Given the description of an element on the screen output the (x, y) to click on. 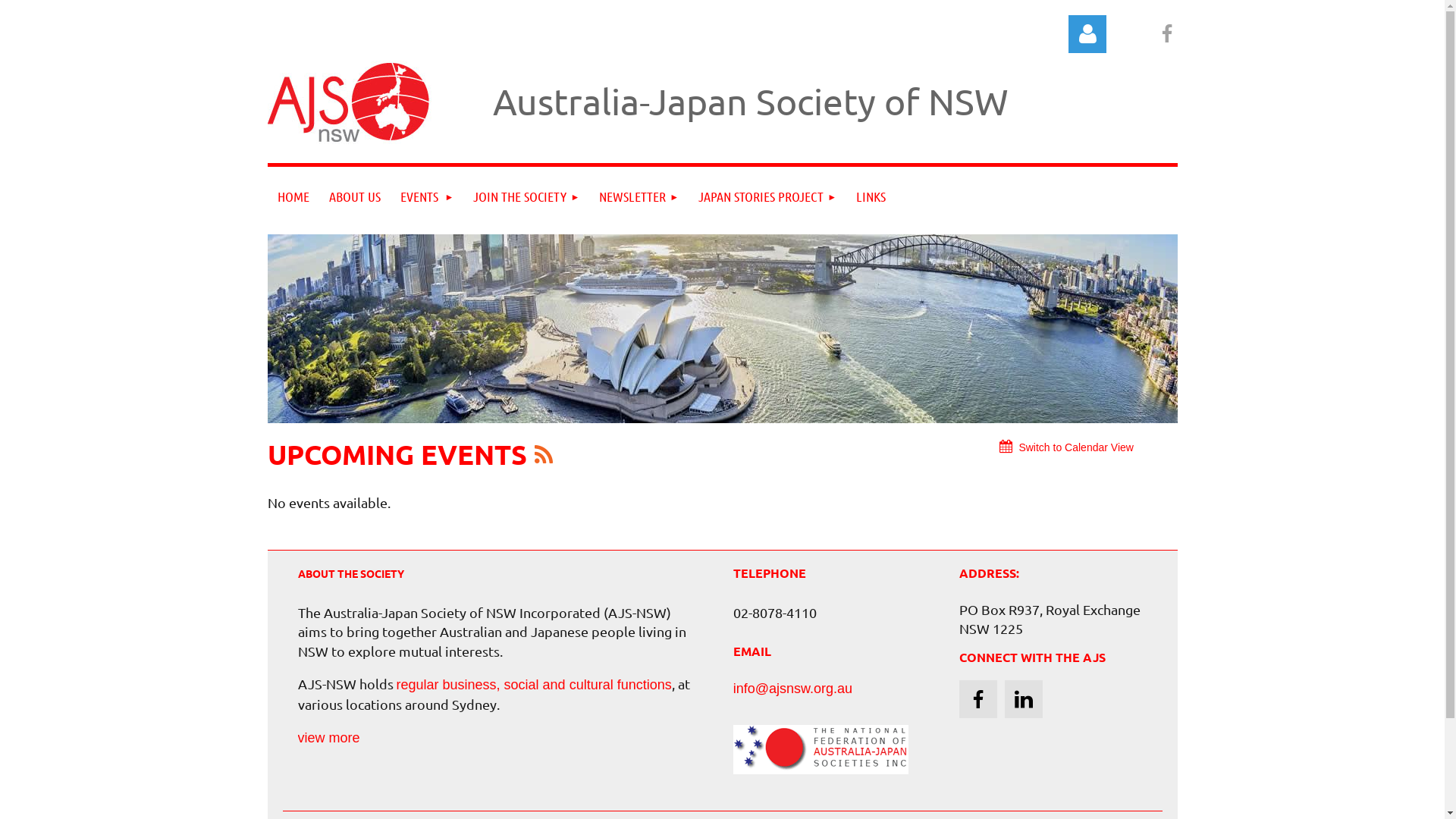
Log in Element type: text (1087, 34)
JAPAN STORIES PROJECT Element type: text (767, 196)
Switch to Calendar View Element type: text (1065, 447)
LINKS Element type: text (870, 196)
NEWSLETTER Element type: text (638, 196)
LinkedIn Element type: hover (1023, 699)
info@ajsnsw.org.au Element type: text (792, 688)
view more Element type: text (328, 737)
HOME Element type: text (292, 196)
ABOUT US Element type: text (353, 196)
regular business, social and cultural functions Element type: text (533, 684)
Facebook Element type: hover (978, 699)
JOIN THE SOCIETY Element type: text (526, 196)
EVENTS Element type: text (426, 196)
Facebook Element type: hover (1165, 32)
